Given the description of an element on the screen output the (x, y) to click on. 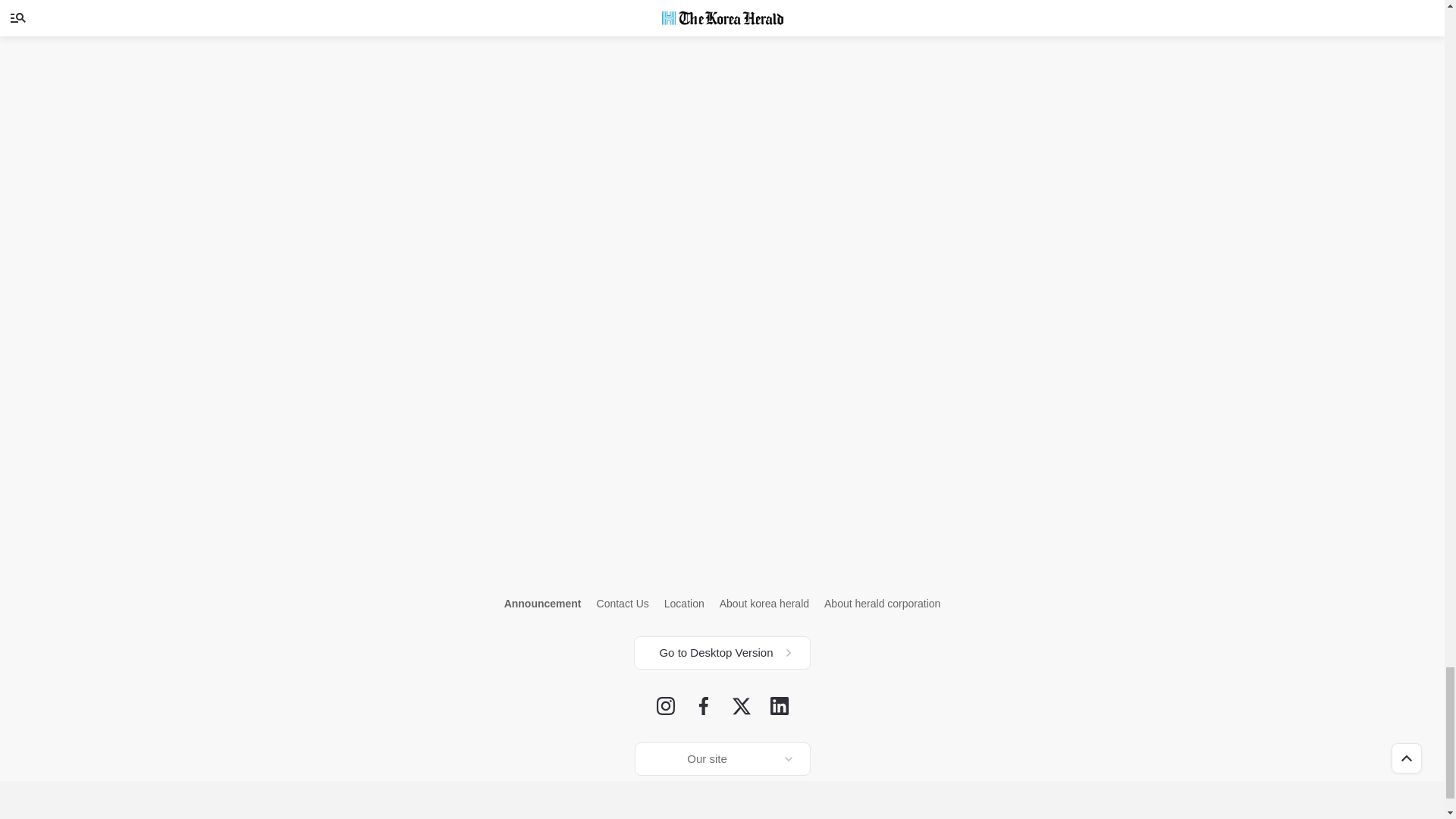
Facebook (703, 705)
Twitter (741, 705)
LinkedIn (779, 705)
Instagram (665, 705)
